Given the description of an element on the screen output the (x, y) to click on. 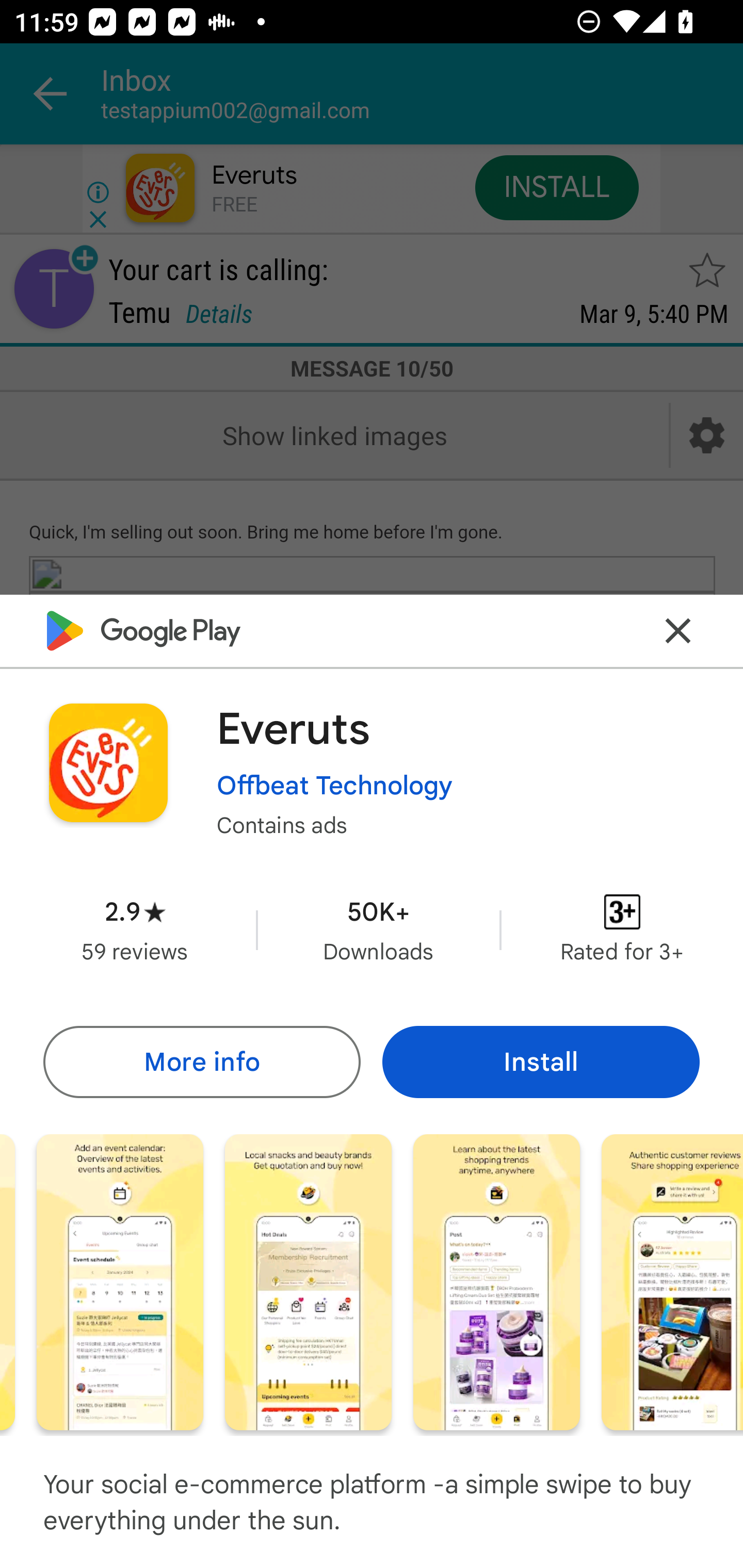
Close (677, 630)
Image of app or game icon for Everuts (108, 762)
Offbeat Technology (334, 784)
More info (201, 1061)
Install (540, 1061)
Screenshot "4" of "7" (119, 1281)
Screenshot "5" of "7" (308, 1281)
Screenshot "6" of "7" (496, 1281)
Screenshot "7" of "7" (672, 1281)
